Given the description of an element on the screen output the (x, y) to click on. 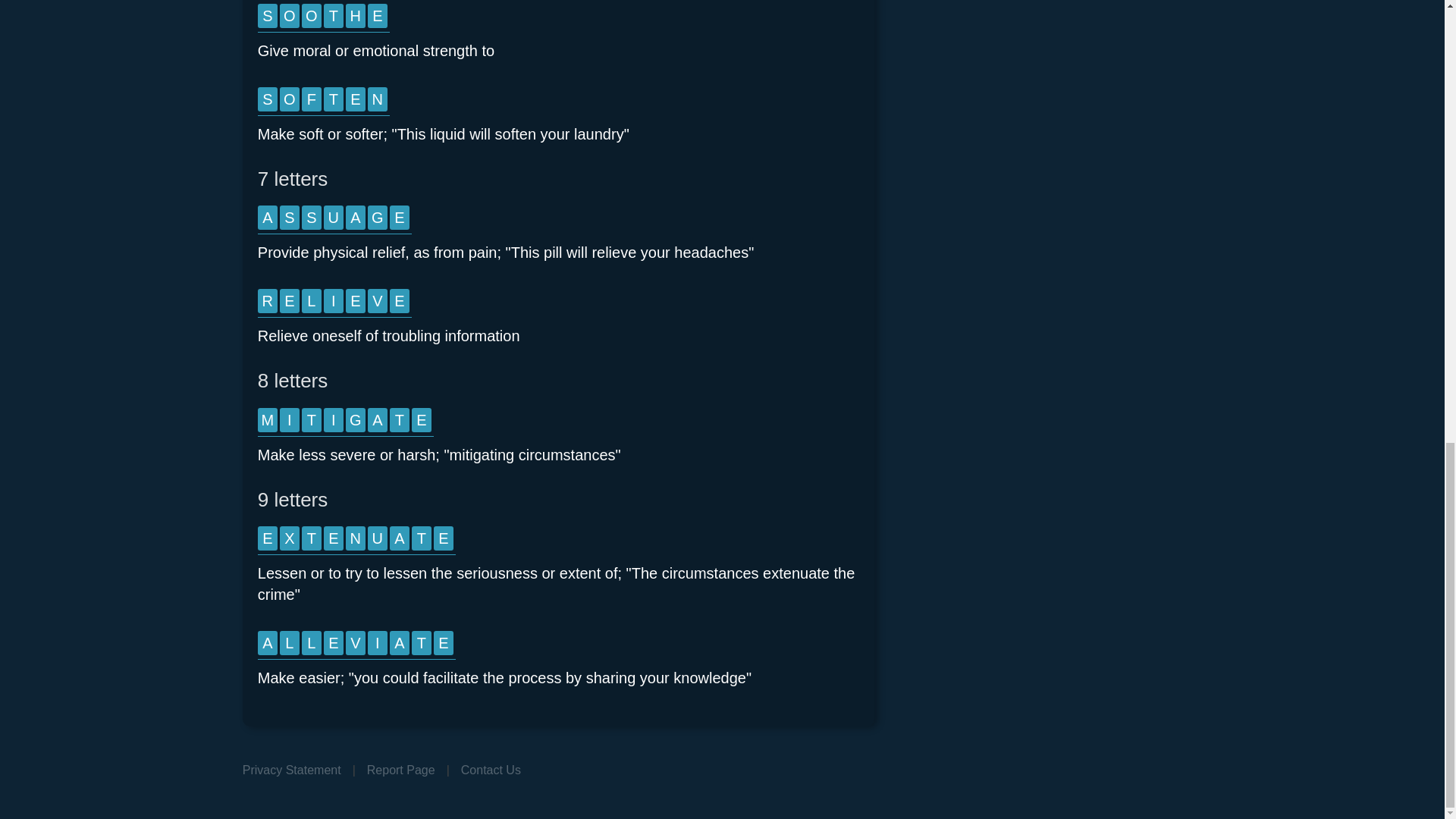
SOOTHE (323, 18)
Privacy Statement (291, 769)
SOFTEN (323, 101)
RELIEVE (334, 303)
Report Page (400, 769)
Contact Us (490, 769)
SOOTHE Crossword Clue (323, 18)
ASSUAGE (334, 219)
ASSUAGE Crossword Clue (334, 219)
SOFTEN Crossword Clue (323, 101)
EXTENUATE (356, 540)
MITIGATE (345, 421)
ALLEVIATE (356, 645)
